Given the description of an element on the screen output the (x, y) to click on. 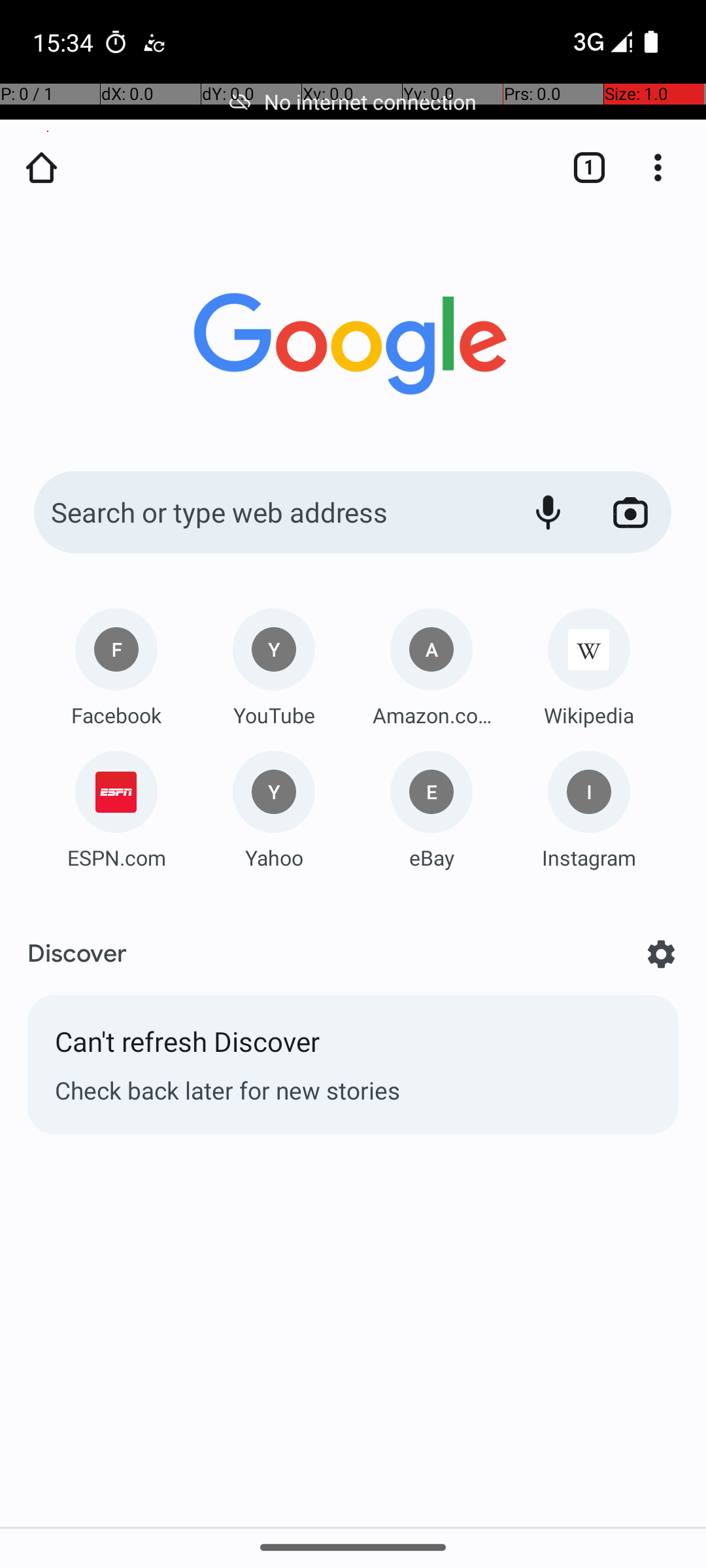
Can't refresh Discover Element type: android.widget.TextView (352, 1047)
Check back later for new stories Element type: android.widget.TextView (352, 1089)
